Given the description of an element on the screen output the (x, y) to click on. 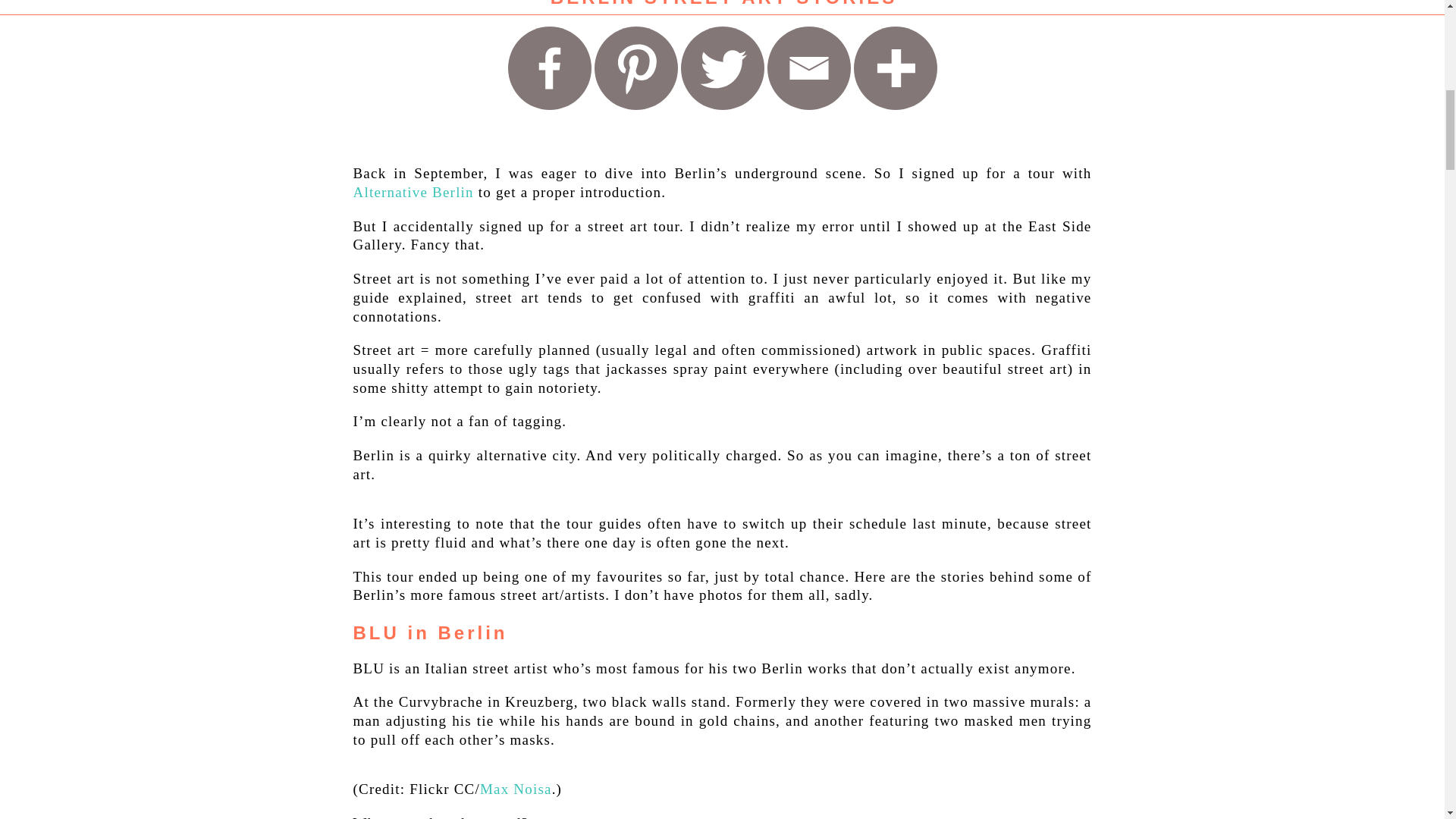
More (895, 67)
Alternative Berlin (413, 191)
Email (808, 67)
Facebook (549, 67)
Pinterest (636, 67)
Twitter (722, 67)
